Given the description of an element on the screen output the (x, y) to click on. 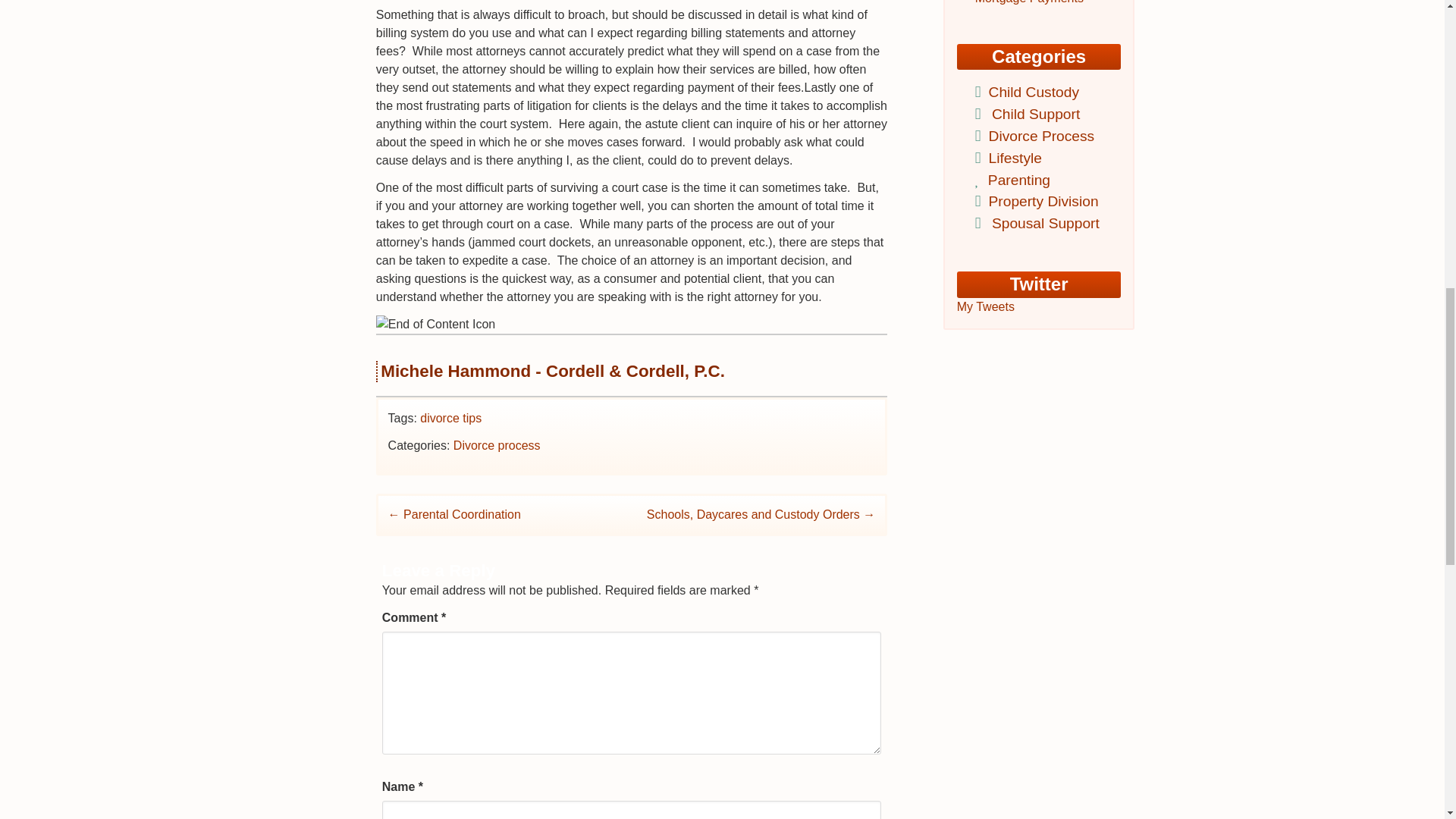
Child Support (1033, 114)
Divorce process (496, 445)
divorce tips (450, 418)
Child Custody (1031, 91)
Credit For Marital Home Mortgage Payments (1040, 2)
Lifestyle (1013, 157)
Divorce Process (1039, 135)
